Given the description of an element on the screen output the (x, y) to click on. 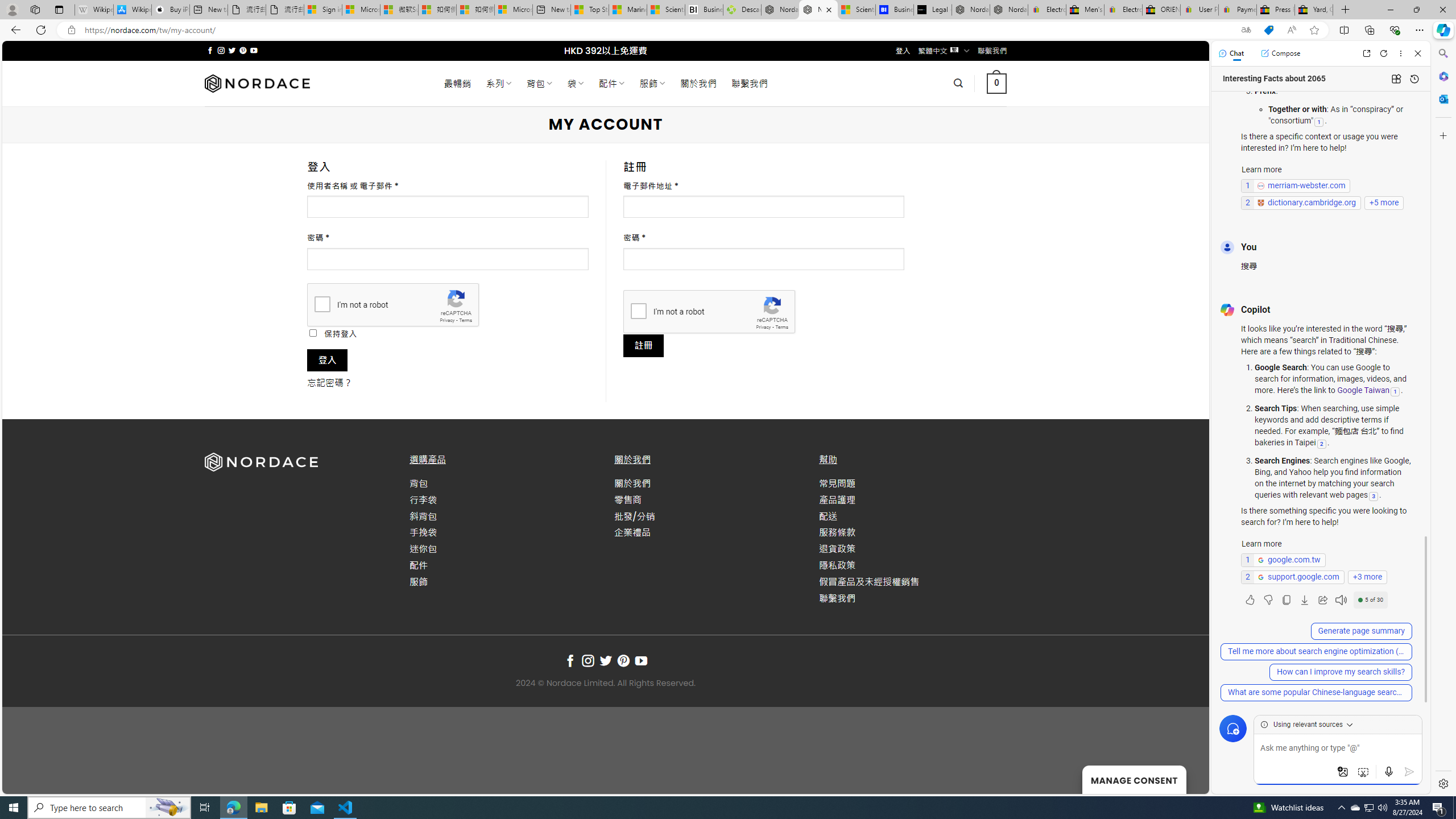
Follow on Instagram (588, 660)
Follow on Facebook (570, 660)
Marine life - MSN (628, 9)
